Given the description of an element on the screen output the (x, y) to click on. 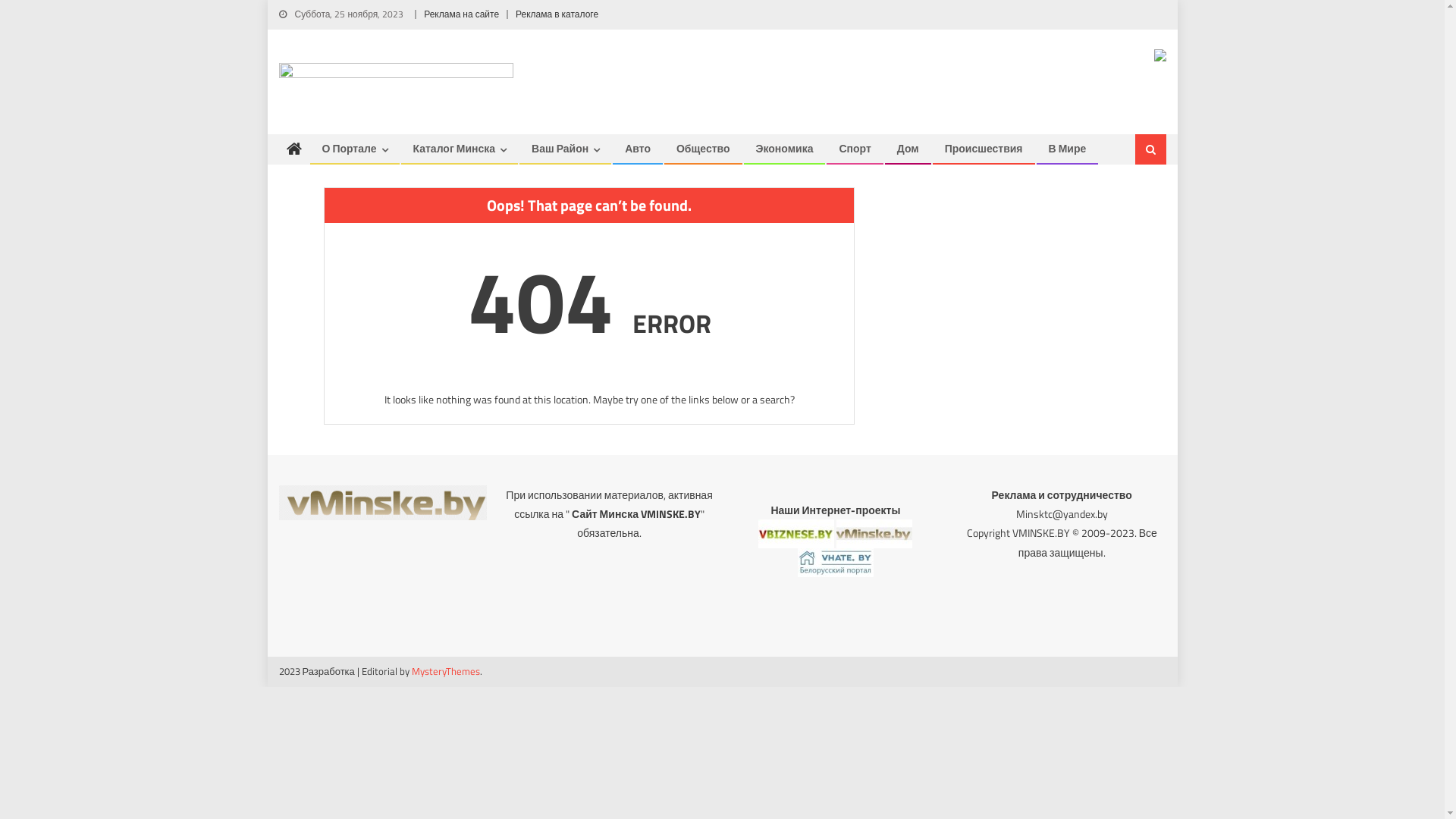
MysteryThemes Element type: text (445, 670)
